Given the description of an element on the screen output the (x, y) to click on. 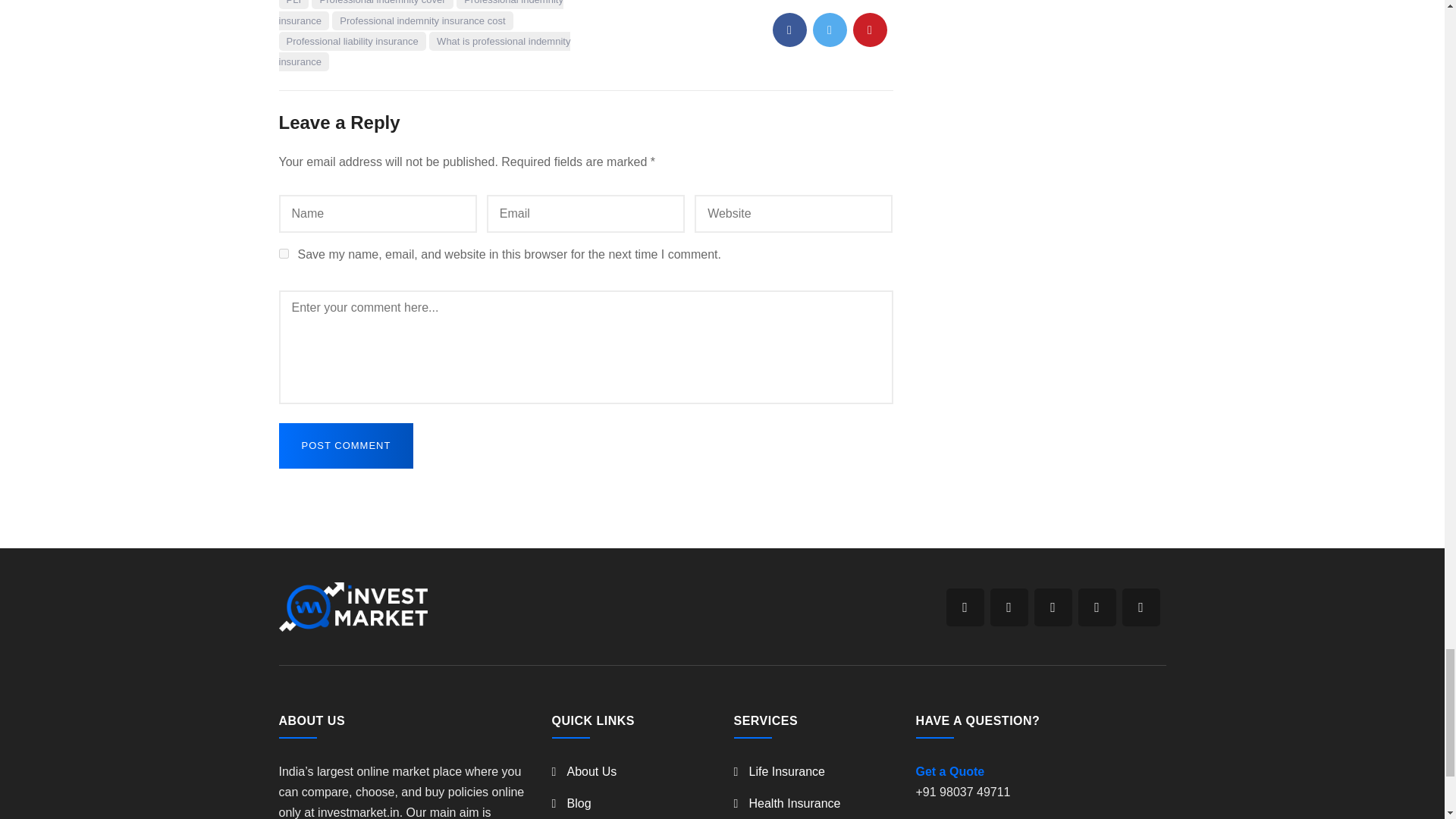
yes (283, 253)
Share on Pinterest (868, 29)
Professional liability insurance (352, 40)
PLI (293, 4)
Professional indemnity cover (381, 4)
Share on Twitter (829, 29)
Professional indemnity insurance cost (421, 20)
What is professional indemnity insurance (424, 51)
Share on Facebook (788, 29)
Post Comment (346, 445)
Professional indemnity insurance (421, 14)
